Given the description of an element on the screen output the (x, y) to click on. 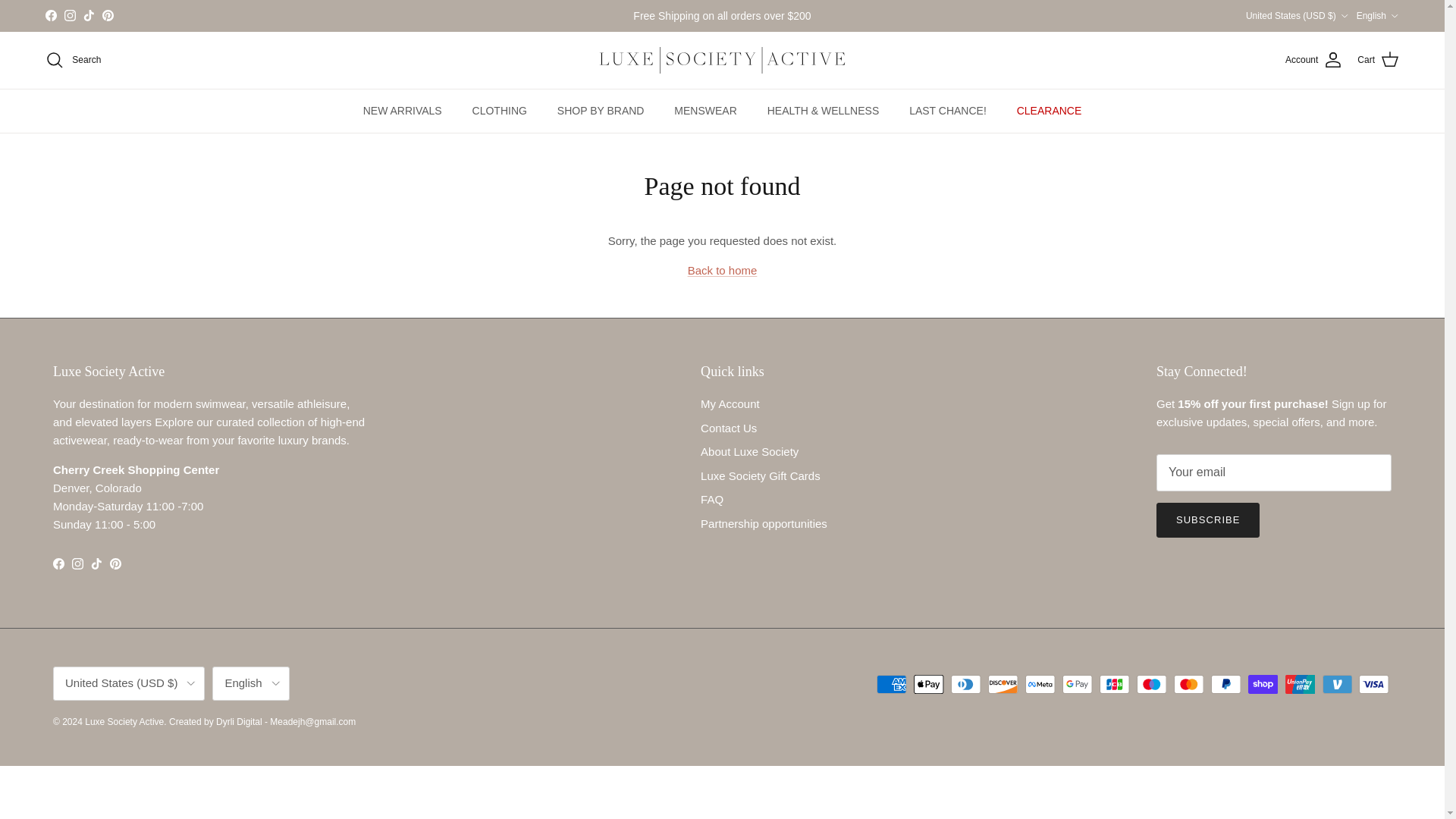
Luxe Society Active on Pinterest (115, 563)
Apple Pay (928, 683)
Discover (1002, 683)
Google Pay (1077, 683)
Search (72, 59)
Luxe Society Active (721, 59)
Luxe Society Active on Facebook (50, 15)
JCB (1114, 683)
Facebook (50, 15)
TikTok (88, 15)
